Given the description of an element on the screen output the (x, y) to click on. 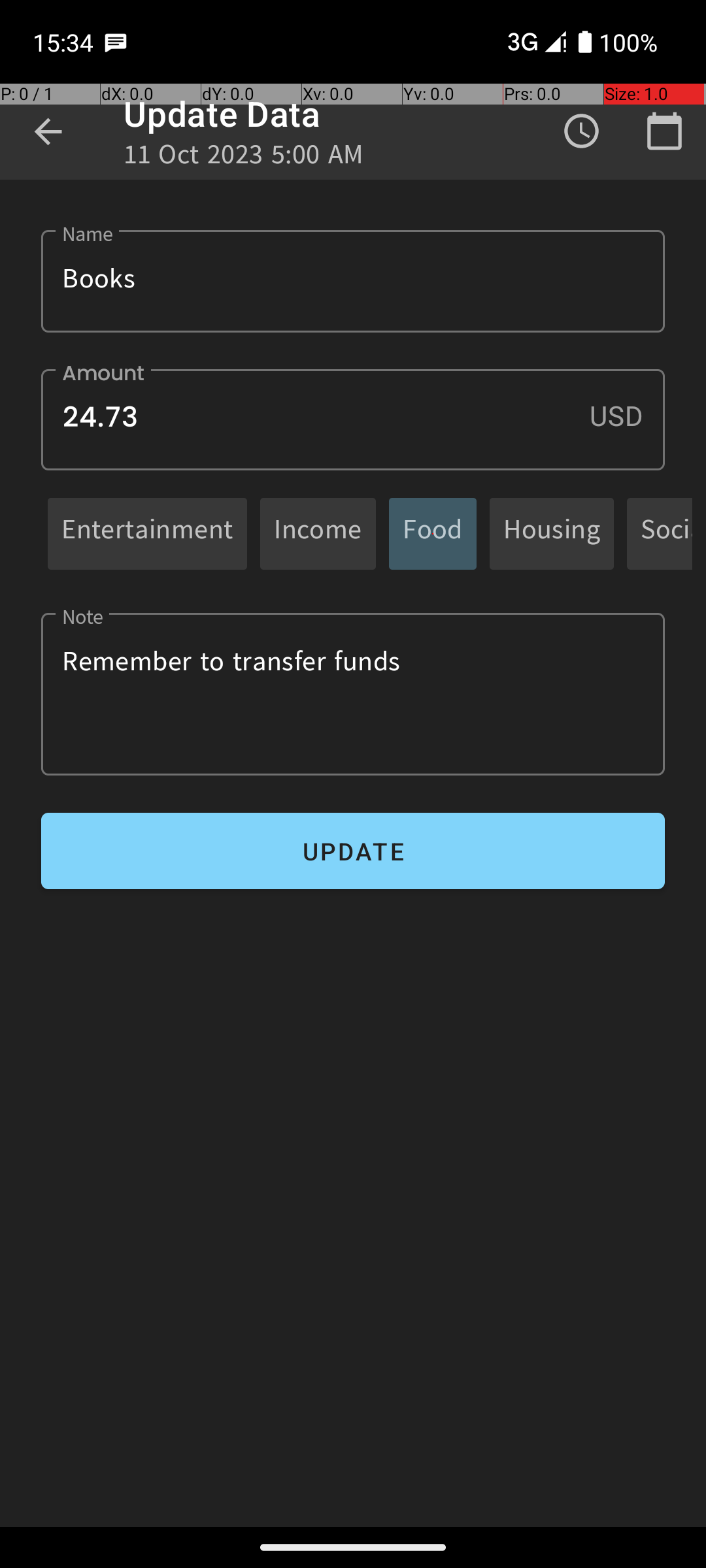
Update Data Element type: android.widget.TextView (221, 113)
11 Oct 2023 5:00 AM Element type: android.widget.TextView (243, 157)
Time Element type: android.widget.TextView (580, 131)
Calendar Element type: android.widget.TextView (664, 131)
Books Element type: android.widget.EditText (352, 280)
24.73 Element type: android.widget.EditText (352, 419)
Remember to transfer funds Element type: android.widget.EditText (352, 693)
UPDATE Element type: android.widget.Button (352, 850)
Entertainment Element type: android.widget.TextView (147, 533)
Income Element type: android.widget.TextView (317, 533)
Food Element type: android.widget.TextView (432, 533)
Housing Element type: android.widget.TextView (551, 533)
Social Element type: android.widget.TextView (666, 533)
